Given the description of an element on the screen output the (x, y) to click on. 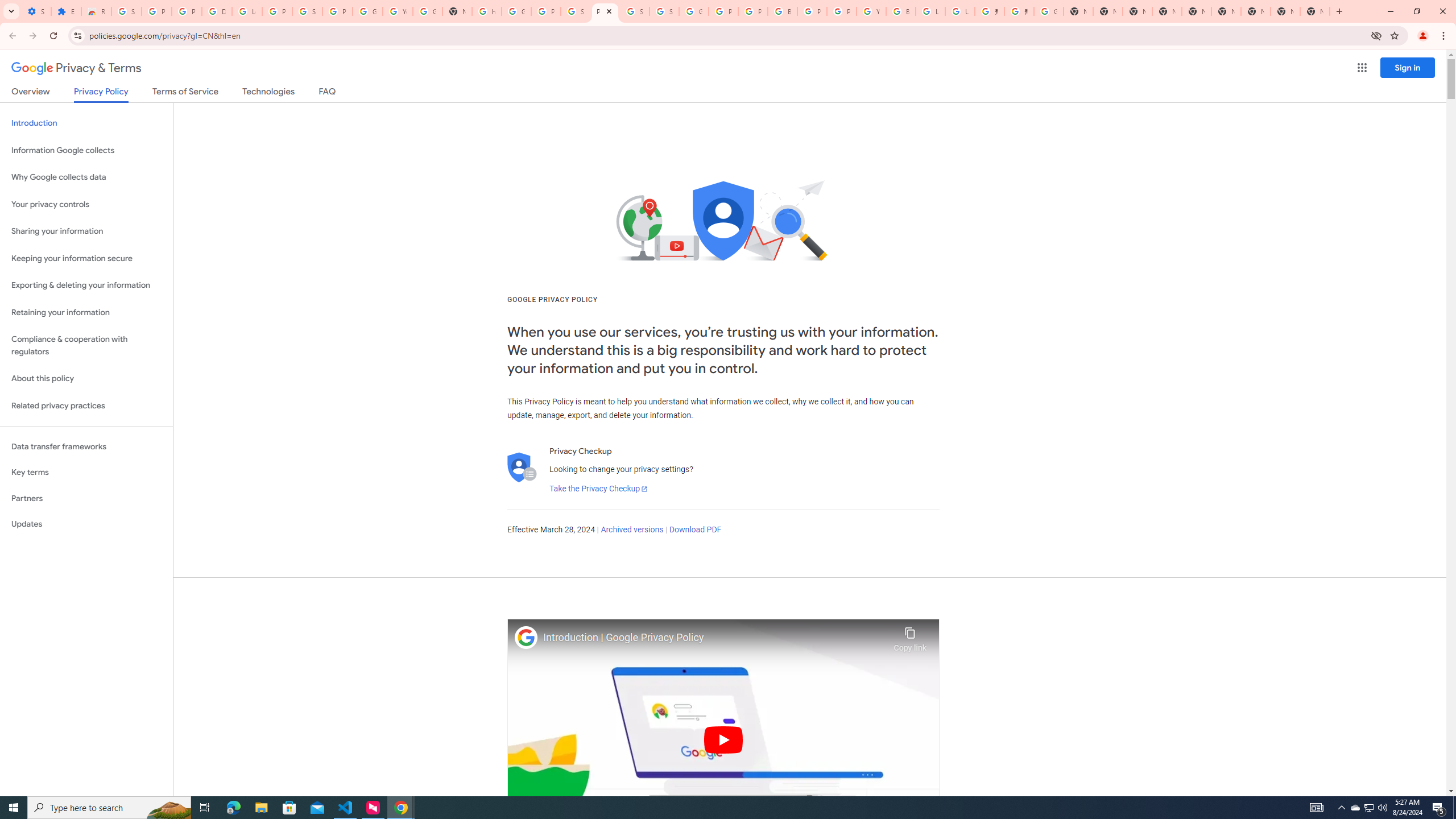
Sign in - Google Accounts (306, 11)
Settings - On startup (36, 11)
New Tab (1314, 11)
Photo image of Google (526, 636)
Google Images (1048, 11)
Take the Privacy Checkup (597, 488)
